Given the description of an element on the screen output the (x, y) to click on. 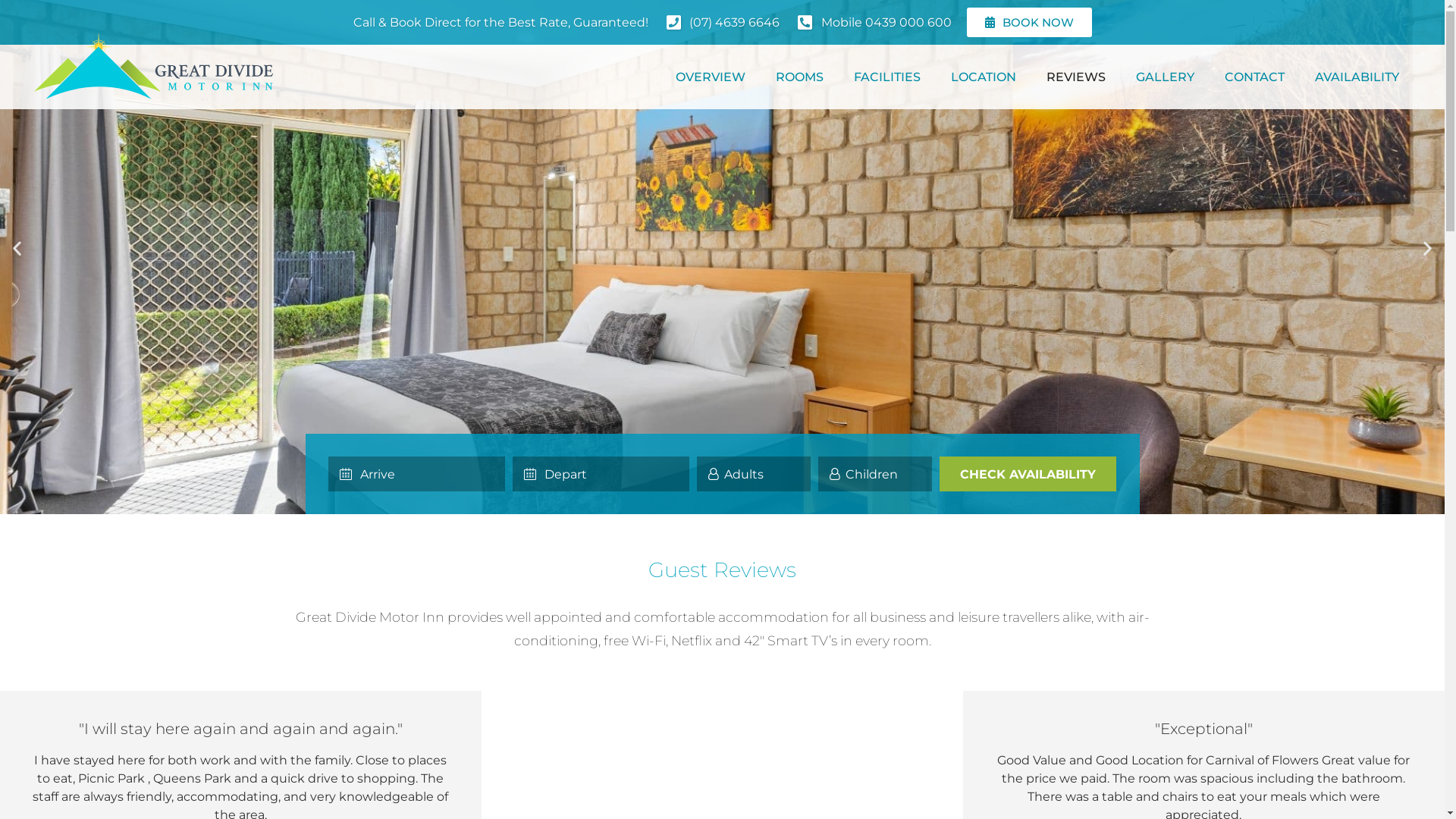
GALLERY Element type: text (1164, 76)
CONTACT Element type: text (1254, 76)
AVAILABILITY Element type: text (1356, 76)
ROOMS Element type: text (799, 76)
Check Availability Element type: text (1027, 473)
FACILITIES Element type: text (886, 76)
Mobile 0439 000 600 Element type: text (872, 22)
OVERVIEW Element type: text (710, 76)
(07) 4639 6646 Element type: text (720, 22)
REVIEWS Element type: text (1075, 76)
LOCATION Element type: text (983, 76)
BOOK NOW Element type: text (1028, 22)
